Given the description of an element on the screen output the (x, y) to click on. 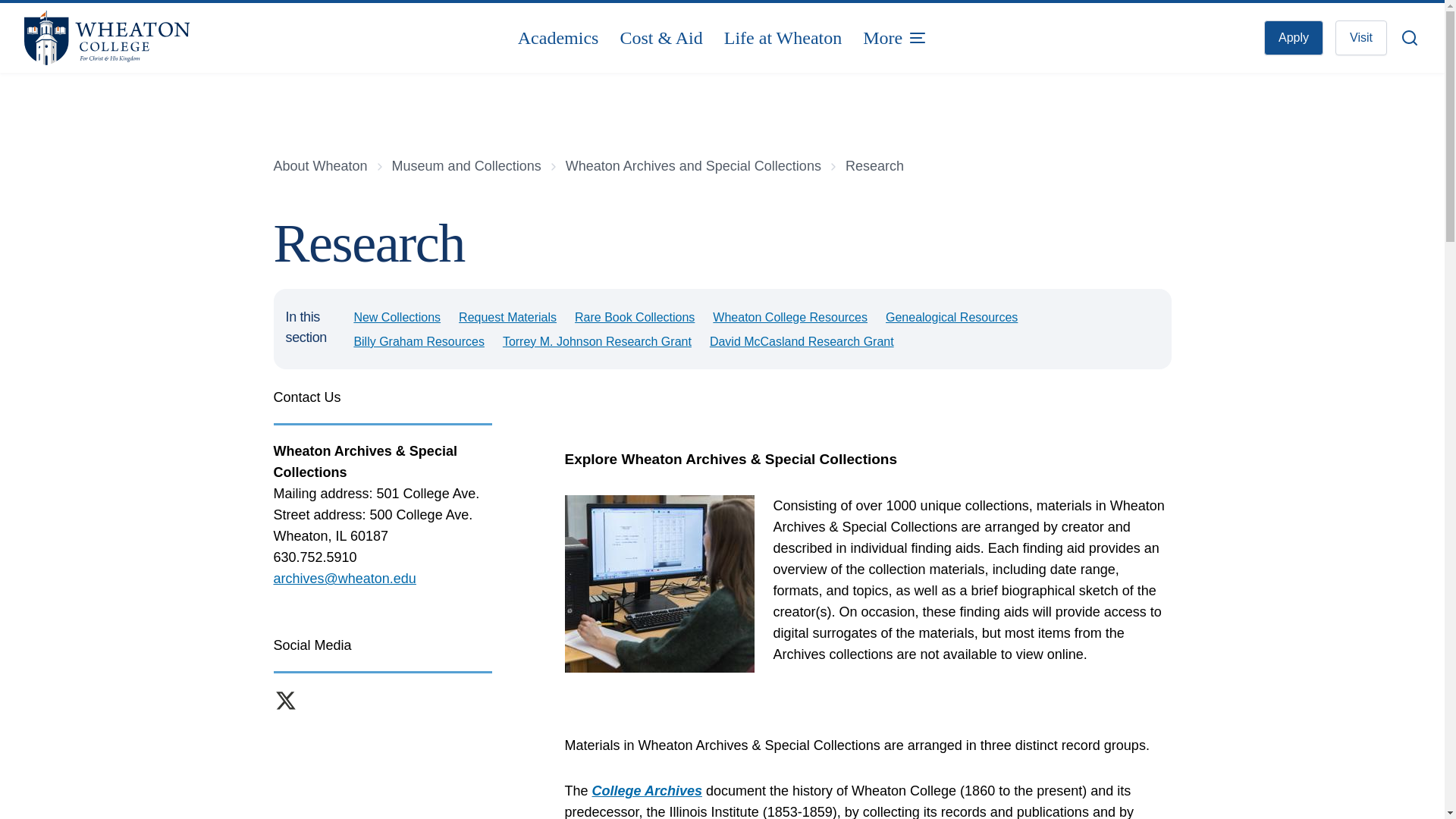
Apply (1293, 37)
Visit (1361, 37)
Wheaton College homepage (161, 37)
More (894, 37)
Academics (557, 37)
Life at Wheaton (782, 37)
